Given the description of an element on the screen output the (x, y) to click on. 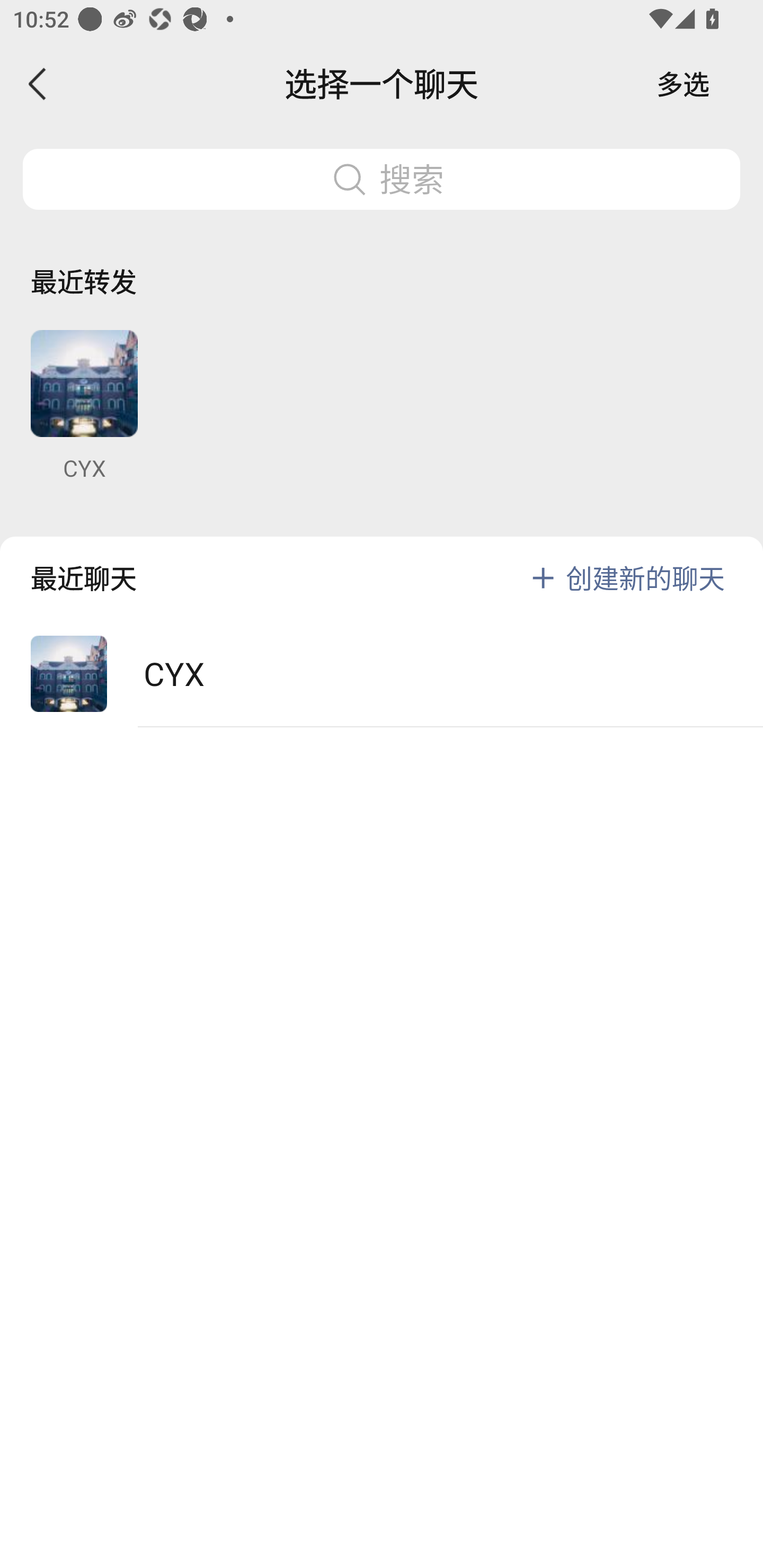
返回 (38, 83)
多选 (683, 83)
CYX (84, 405)
最近聊天 创建新的聊天 (381, 563)
创建新的聊天 (645, 577)
CYX (381, 673)
